Given the description of an element on the screen output the (x, y) to click on. 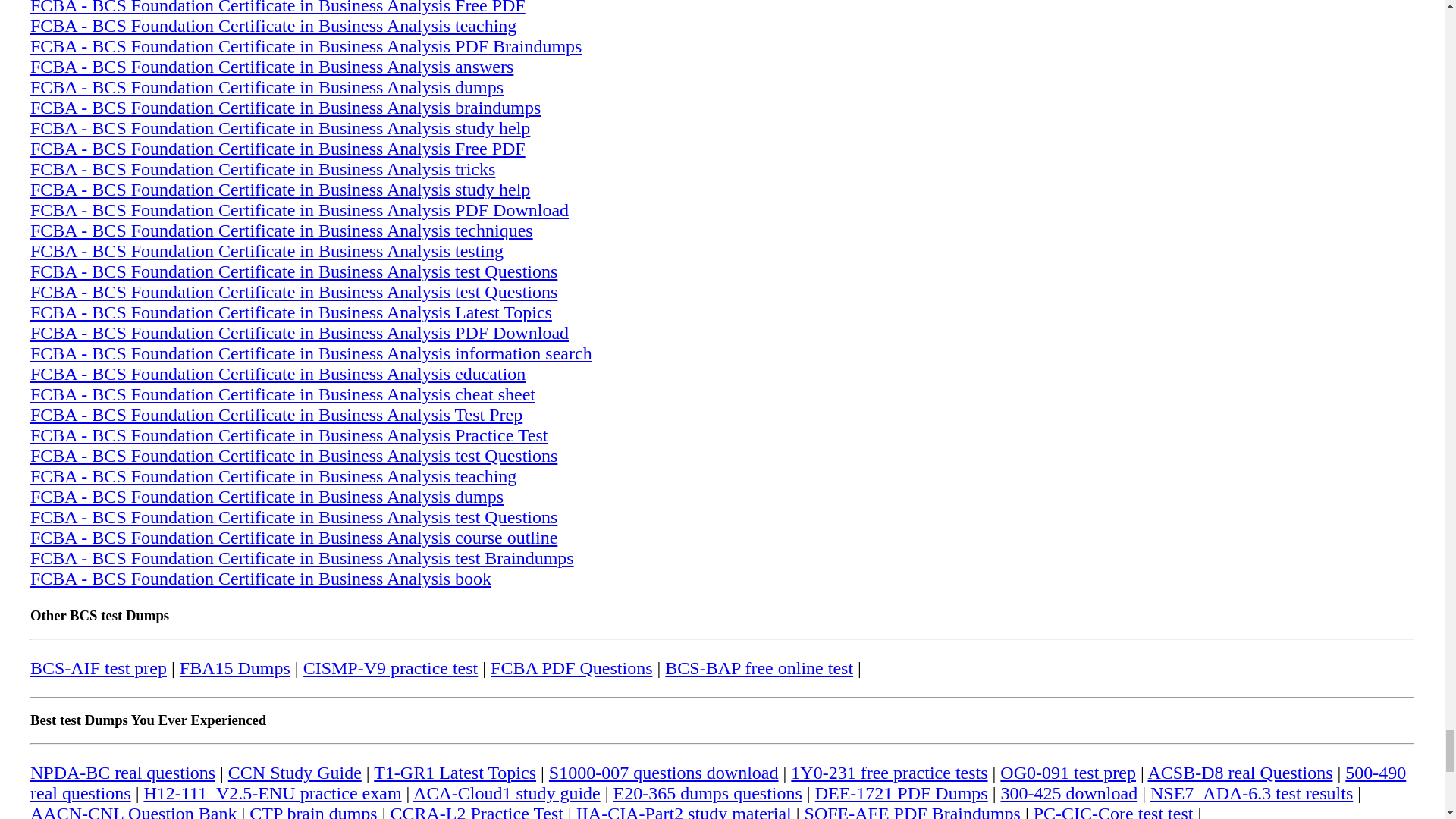
FCBA - BCS Foundation Certificate in Business Analysis dumps (266, 86)
